Given the description of an element on the screen output the (x, y) to click on. 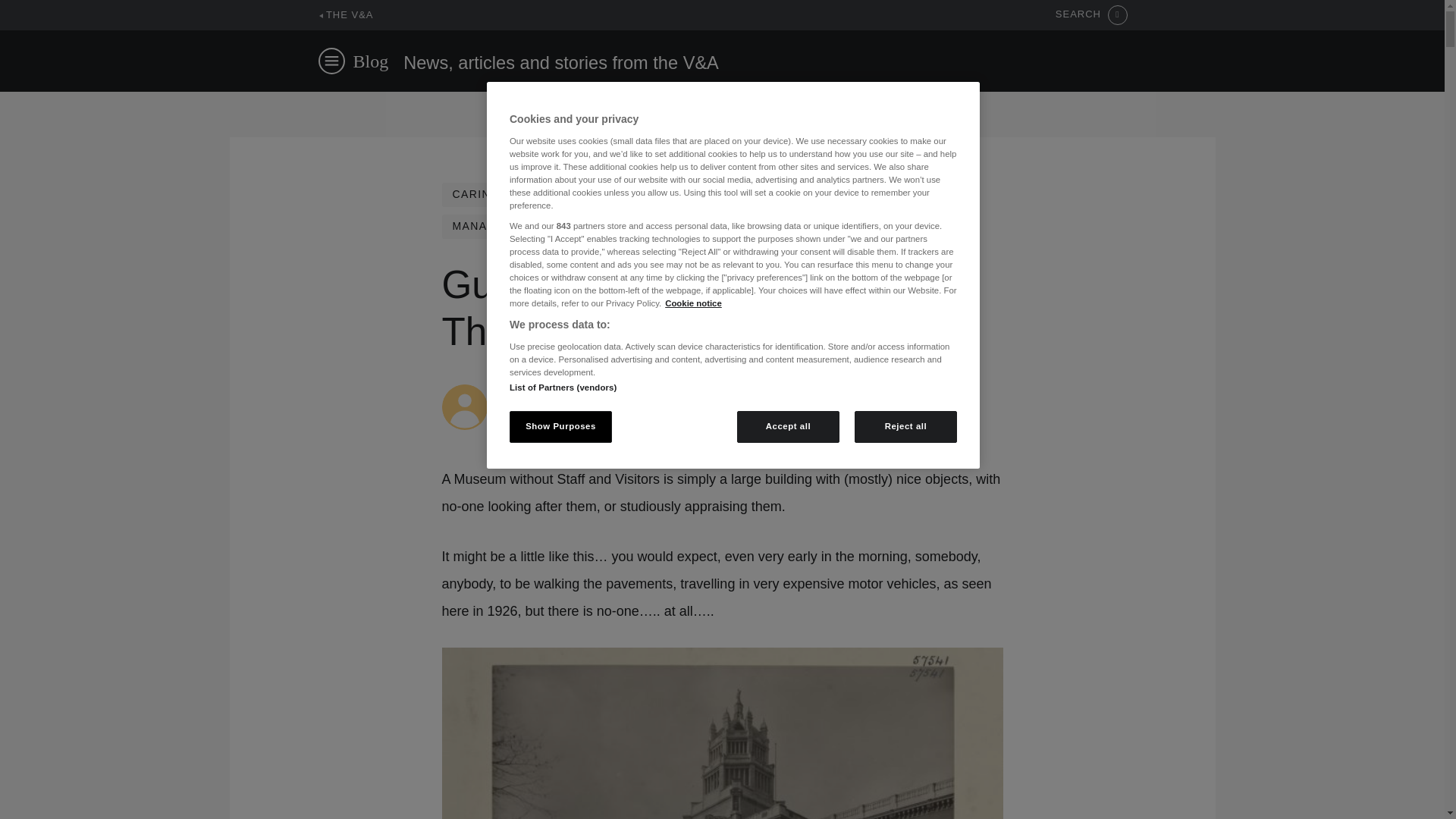
MANAGING OUR COLLECTIONS (545, 226)
Steve Woodhouse (546, 391)
CARING FOR OUR COLLECTIONS (551, 194)
Blog (370, 60)
SEARCH (1090, 15)
Posts by Steve Woodhouse (546, 391)
CONSERVATION (730, 194)
